Given the description of an element on the screen output the (x, y) to click on. 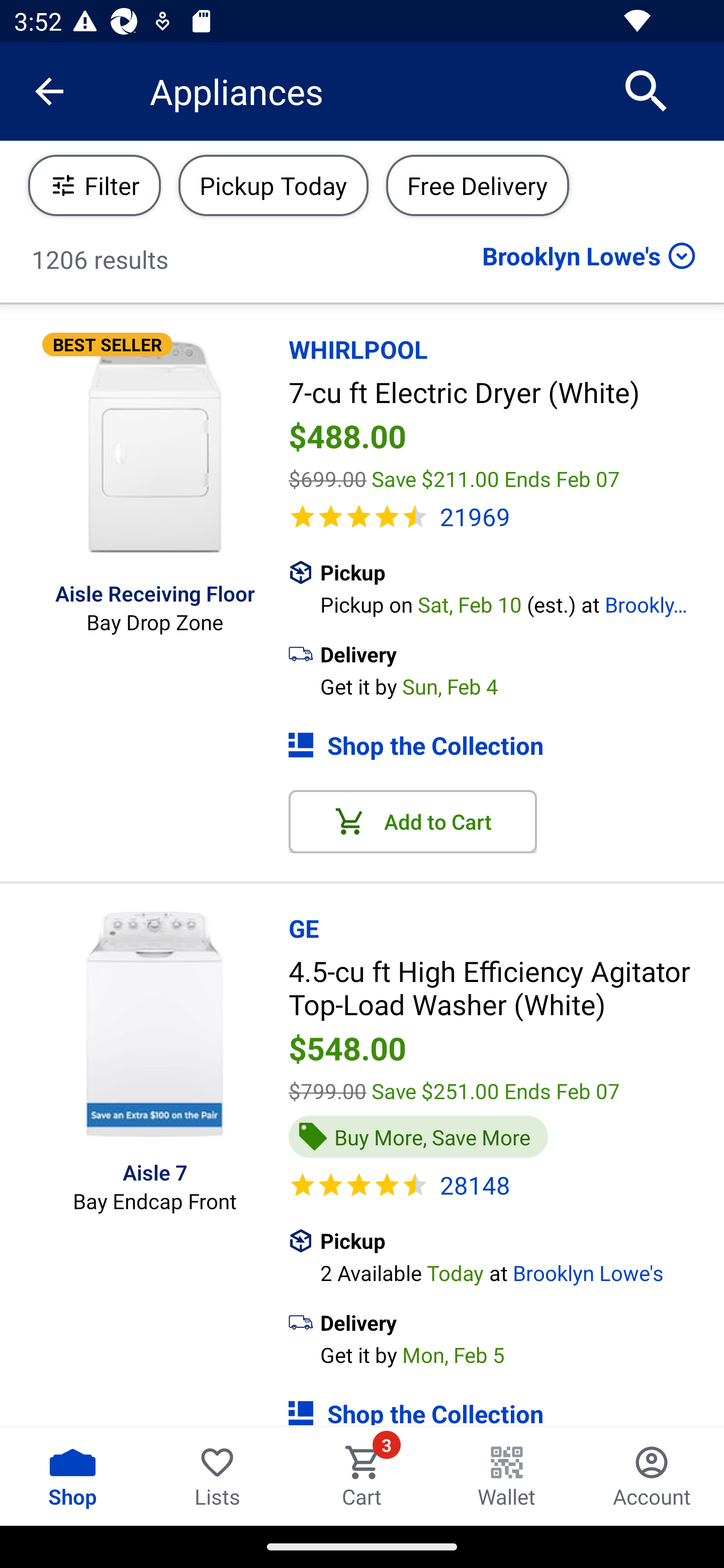
Navigate up (49, 91)
Search for products (646, 90)
Sort And Filter Button Filter (94, 184)
Pickup Today (273, 184)
Free Delivery (477, 184)
Brooklyn Lowe's Dropdown Icon (588, 255)
Pickup on Sat, Feb 10 (est.)  at  Brooklyn Lowe's (522, 602)
Shop the Collection (506, 745)
Add to Cart (412, 821)
2 Available Today  at  Brooklyn Lowe's (522, 1270)
Shop the Collection (506, 1403)
Lists (216, 1475)
Cart Cart 3 (361, 1475)
Wallet (506, 1475)
Account (651, 1475)
